Given the description of an element on the screen output the (x, y) to click on. 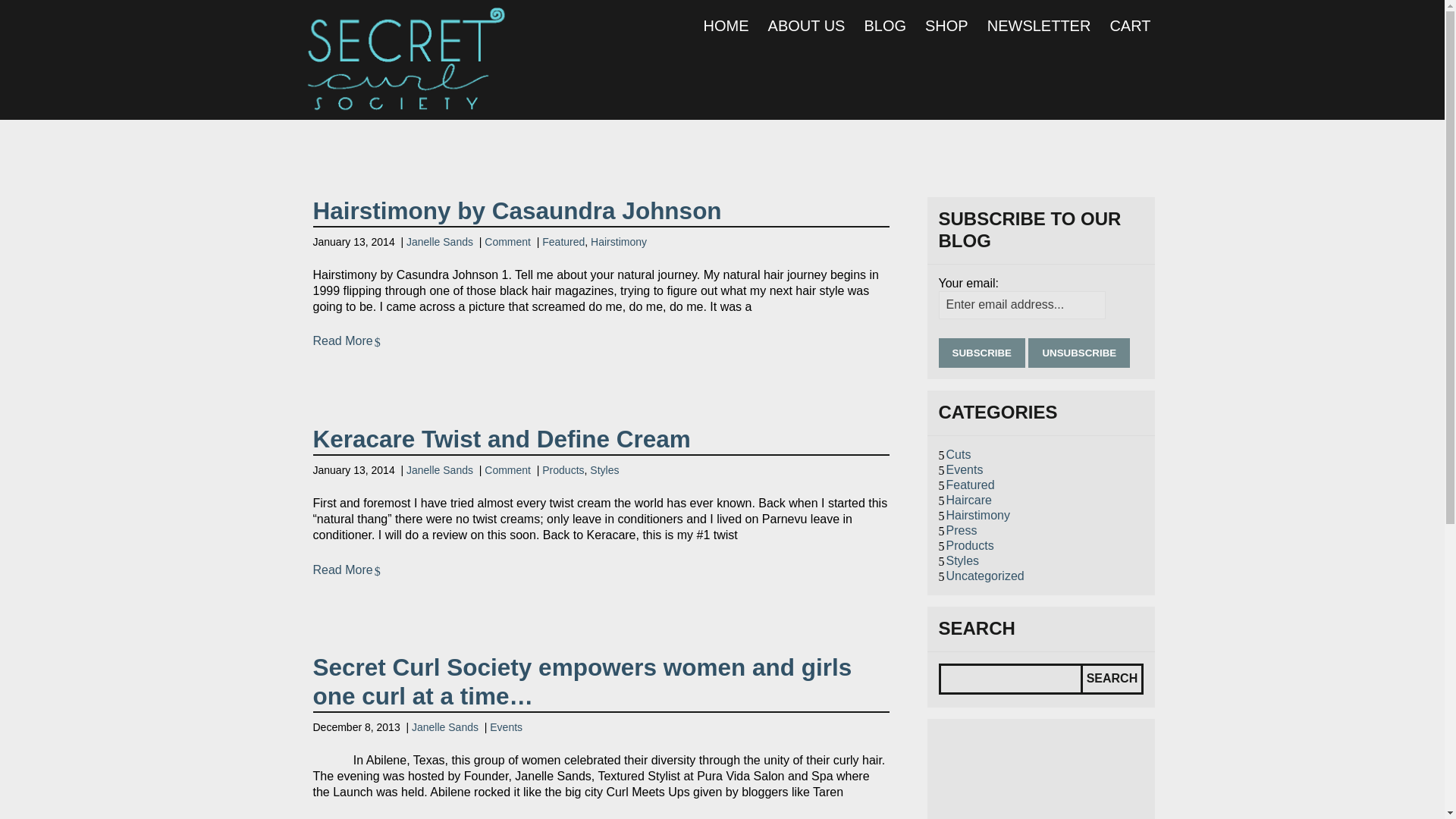
Hairstimony by Casaundra Johnson (516, 210)
Styles (603, 469)
Comment (507, 241)
Permalink to Keracare Twist and Define Cream (501, 438)
Posts by Janelle Sands (445, 727)
Subscribe (982, 352)
SHOP (946, 25)
Posts by Janelle Sands (439, 241)
Events (965, 469)
CART (1129, 25)
Permalink to Hairstimony by Casaundra Johnson (516, 210)
Janelle Sands (439, 469)
NEWSLETTER (1039, 25)
Enter email address... (1022, 305)
Janelle Sands (445, 727)
